Given the description of an element on the screen output the (x, y) to click on. 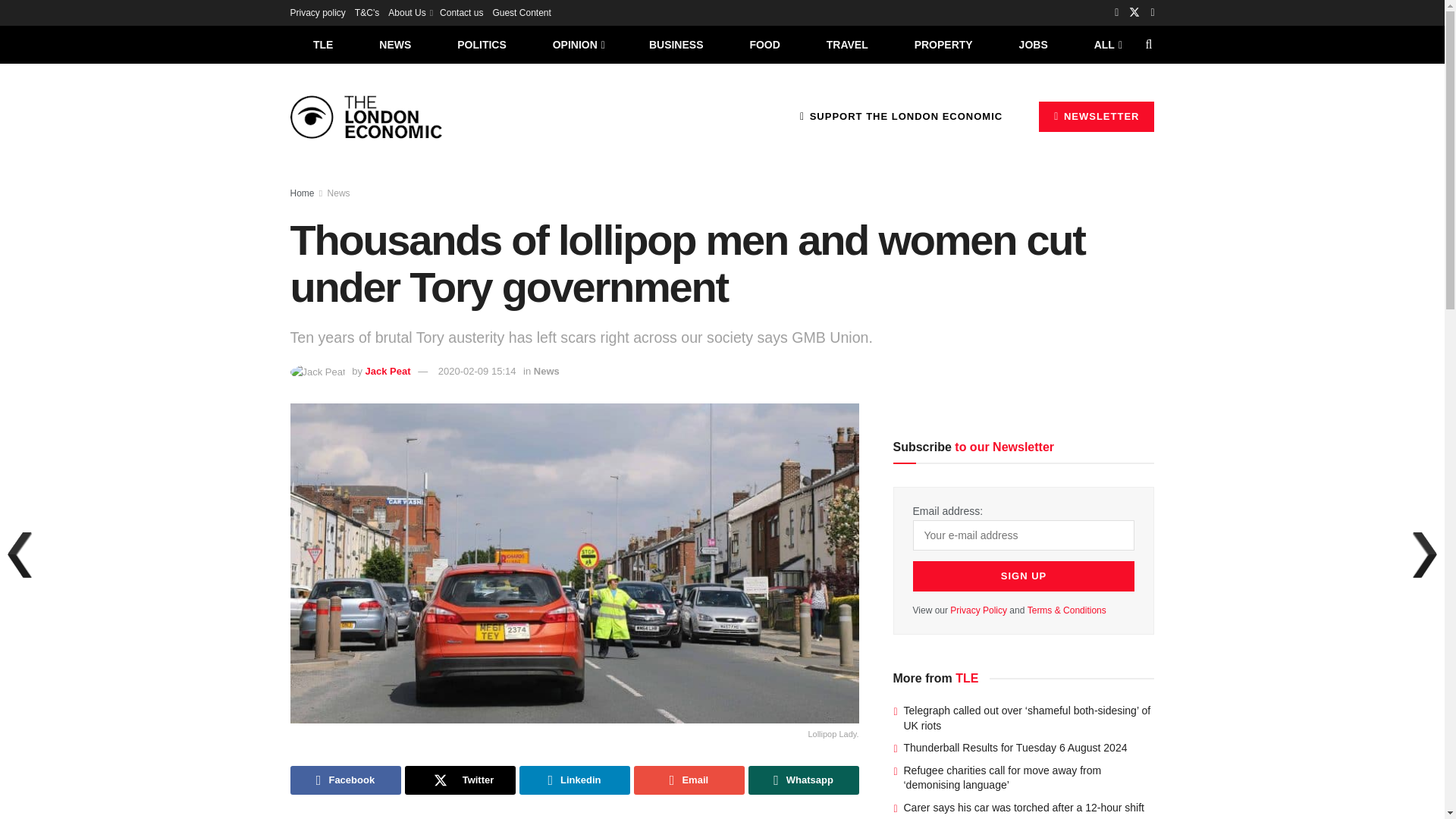
Home (301, 193)
Sign up (1023, 576)
FOOD (764, 44)
Contact us (461, 12)
ALL (1106, 44)
JOBS (1032, 44)
NEWS (394, 44)
NEWSLETTER (1096, 116)
Guest Content (521, 12)
Privacy policy (317, 12)
